Given the description of an element on the screen output the (x, y) to click on. 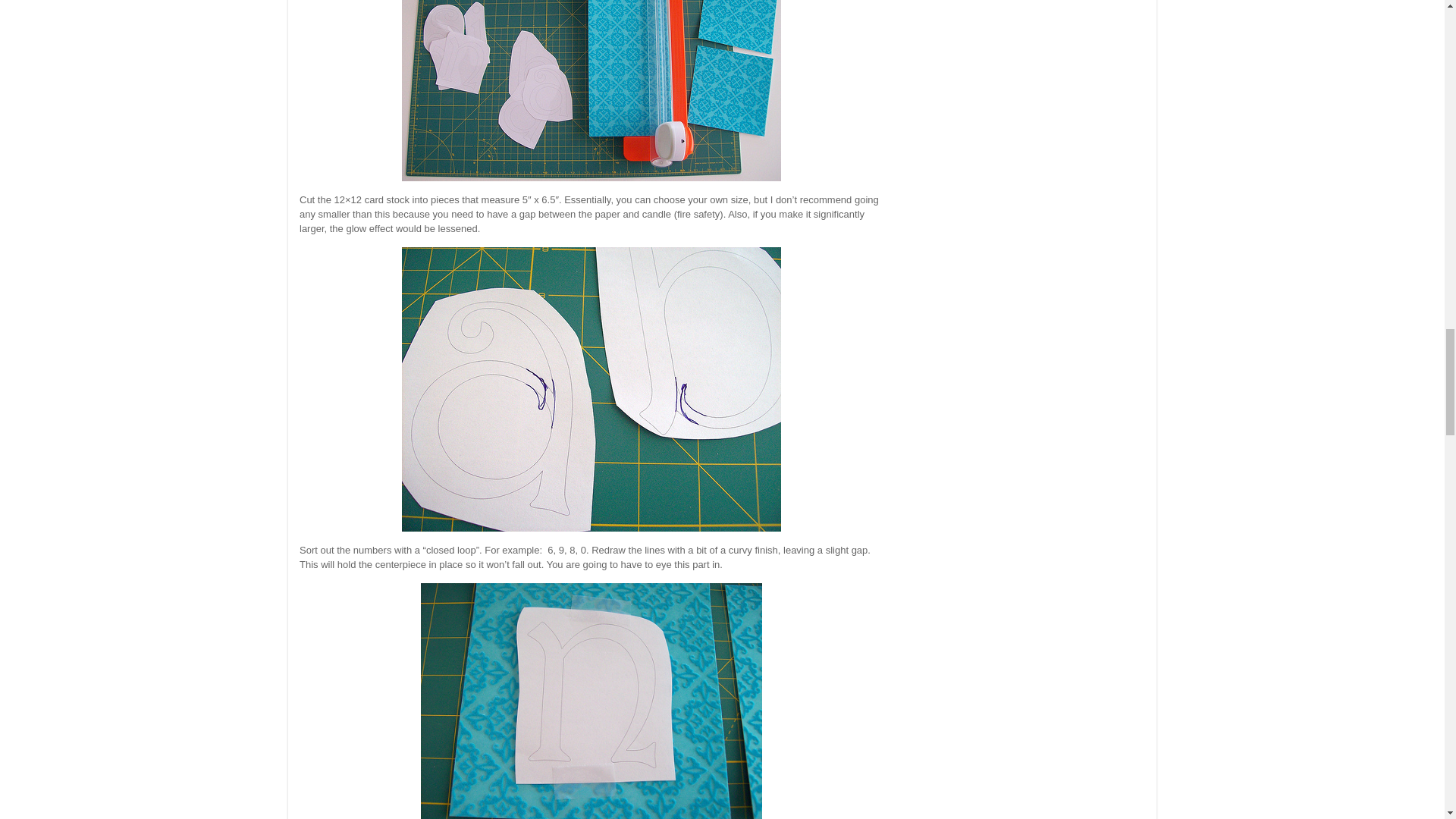
wedding table numbers diy reception (590, 389)
diy table numbers (590, 701)
diy table numbers (590, 90)
